Given the description of an element on the screen output the (x, y) to click on. 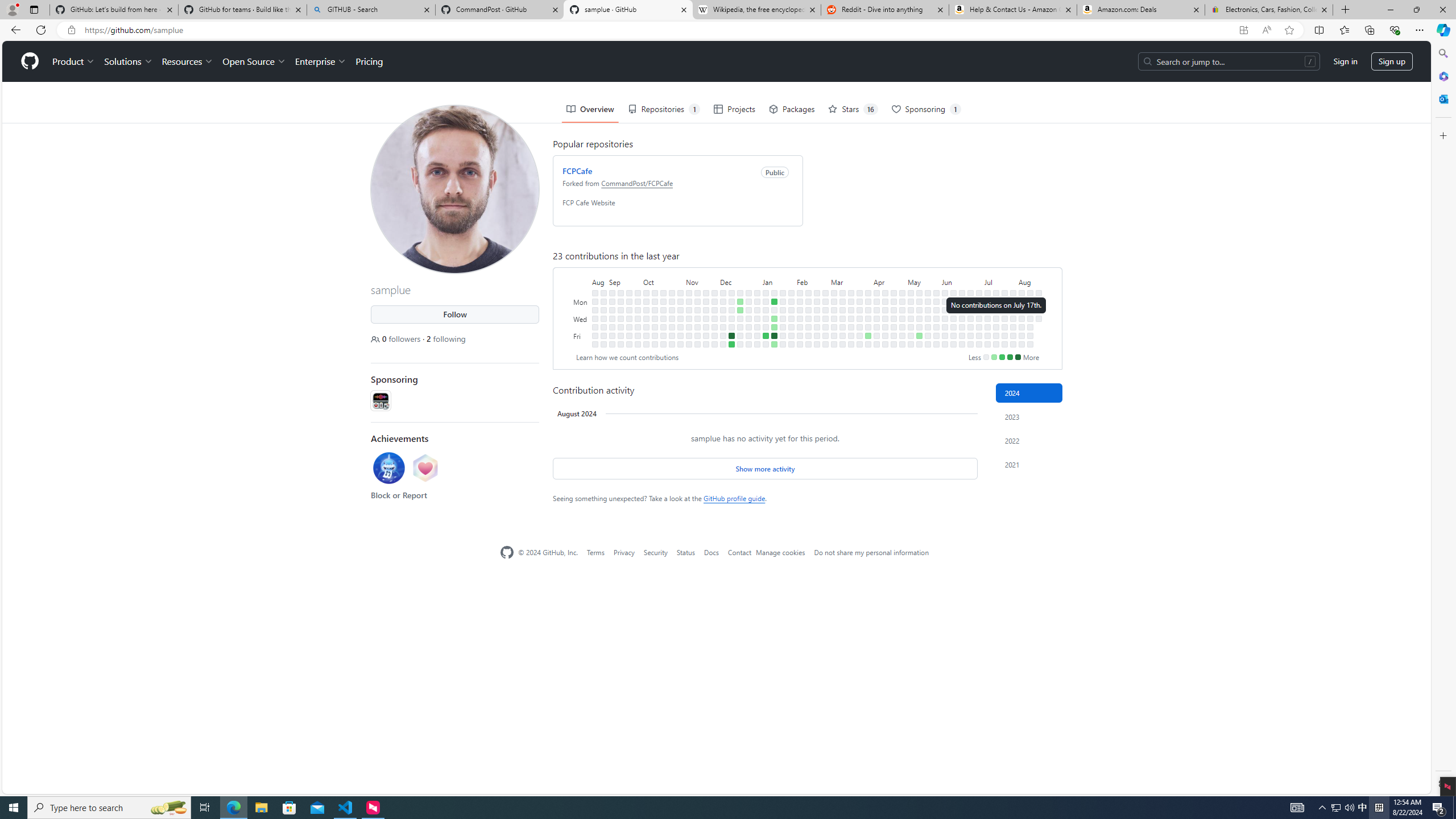
Sign in (1345, 61)
No contributions on January 6th. (757, 343)
No contributions on September 2nd. (603, 343)
No contributions on May 29th. (936, 318)
Electronics, Cars, Fashion, Collectibles & More | eBay (1268, 9)
Wednesday (581, 318)
No contributions on August 25th. (595, 335)
No contributions on December 14th. (731, 326)
No contributions on September 22nd. (628, 335)
No contributions on February 17th. (807, 343)
Privacy (623, 551)
No contributions on January 27th. (783, 343)
No contributions on March 10th. (842, 292)
No contributions on October 2nd. (646, 301)
Achievement: Pull Shark (389, 468)
